Given the description of an element on the screen output the (x, y) to click on. 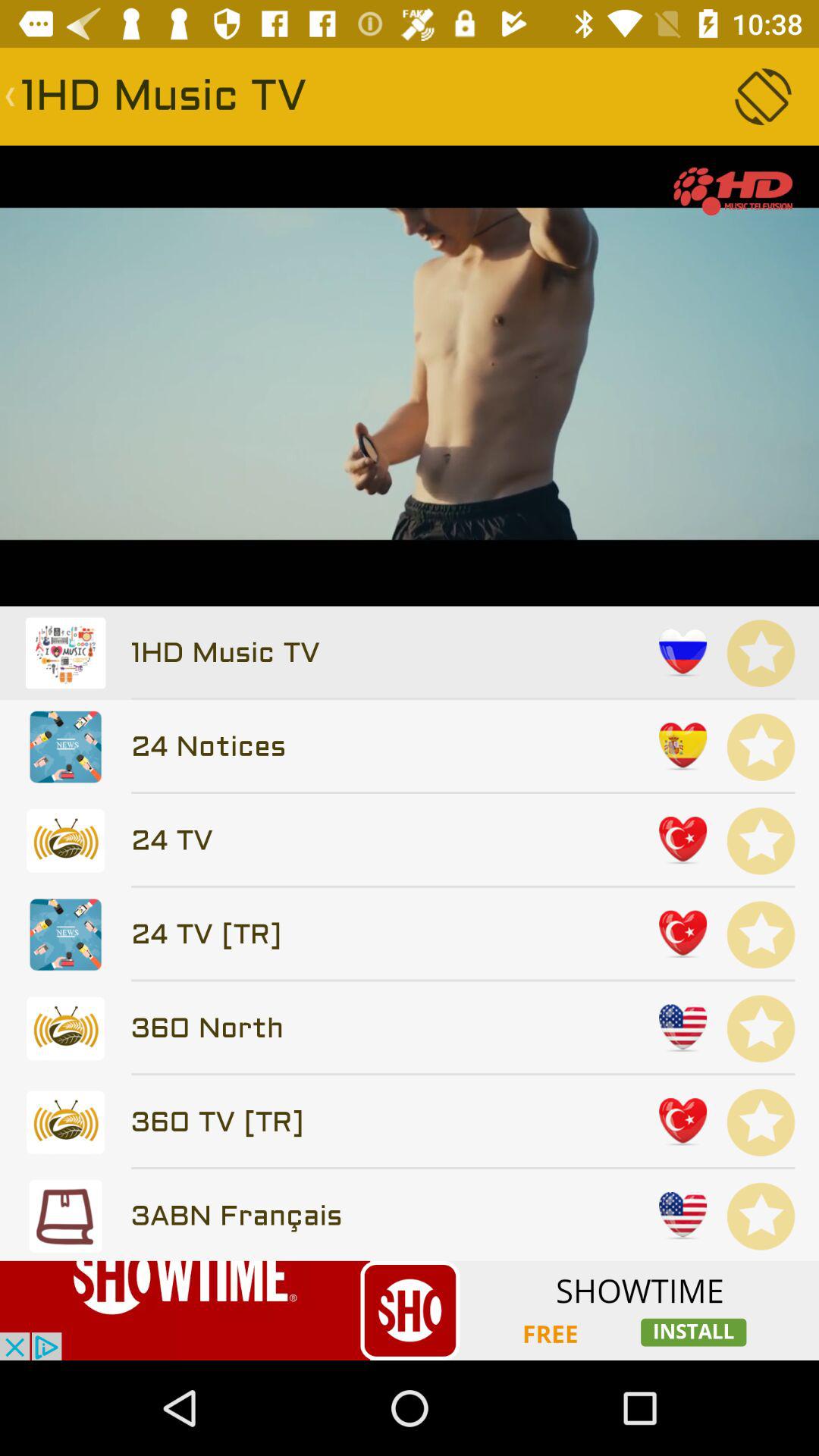
banner advertisement (409, 1310)
